Given the description of an element on the screen output the (x, y) to click on. 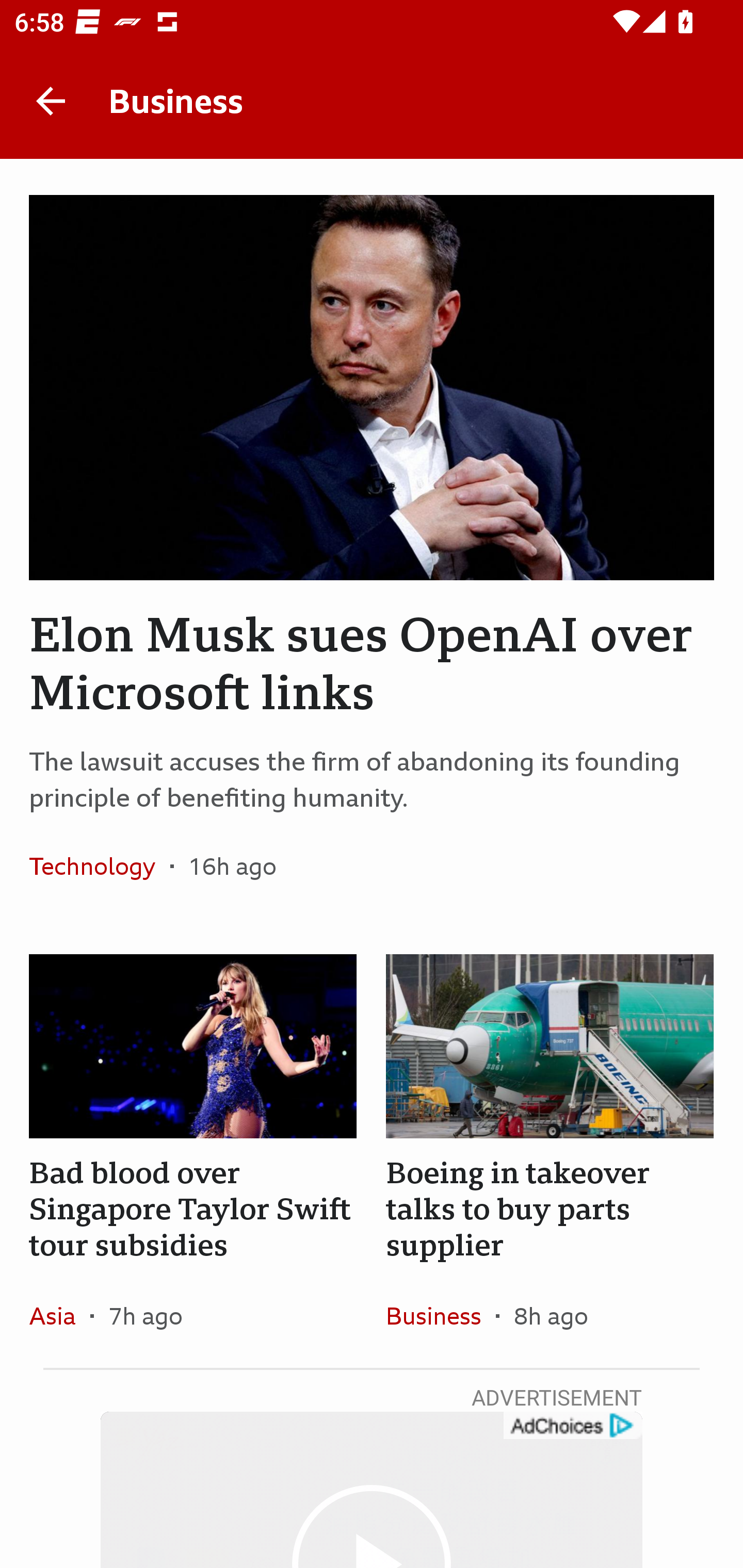
Back (50, 101)
Technology In the section Technology (99, 865)
Asia In the section Asia (59, 1315)
Business In the section Business (440, 1315)
Video Player get?name=admarker-full-tl   (371, 1489)
get?name=admarker-full-tl (571, 1425)
